Given the description of an element on the screen output the (x, y) to click on. 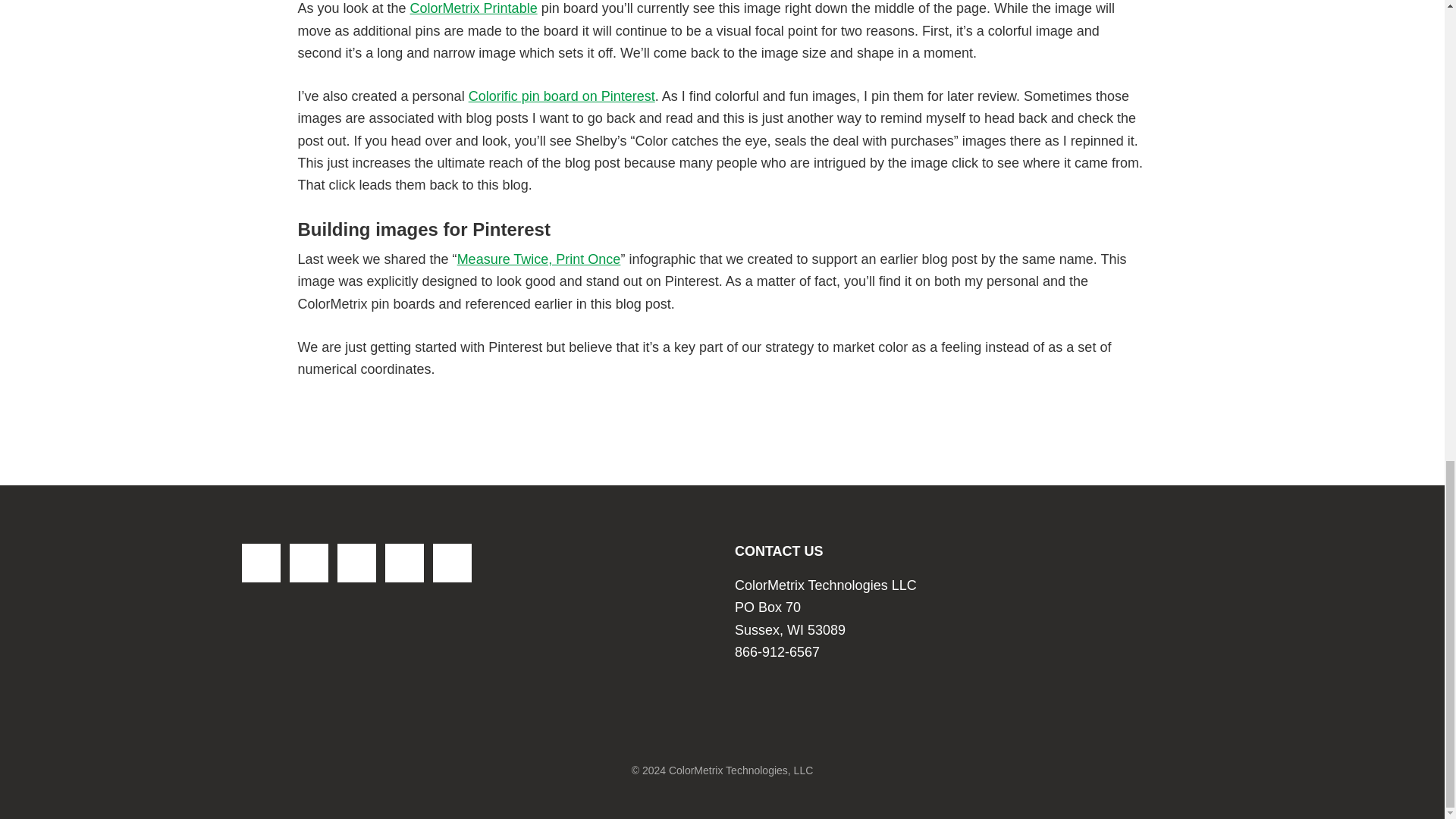
ColorMetrix Printable (473, 7)
Measure Twice, Print Once (539, 258)
Colorific pin board on Pinterest (561, 96)
